Given the description of an element on the screen output the (x, y) to click on. 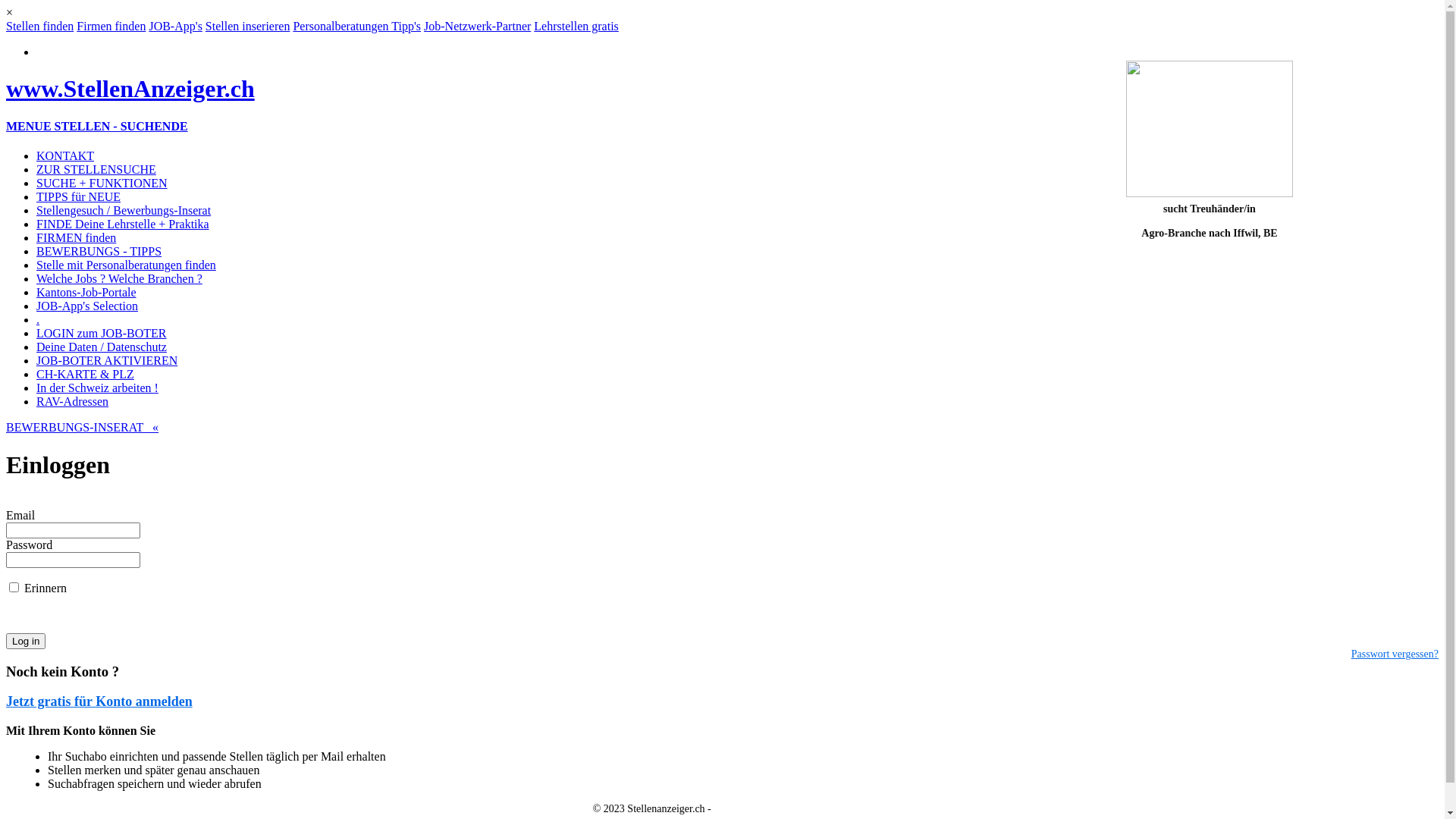
JOB-App's Element type: text (174, 25)
Stellen inserieren Element type: text (247, 25)
BEWERBUNGS-INSERAT   Element type: text (79, 426)
Deine Daten / Datenschutz Element type: text (101, 346)
FIRMEN finden Element type: text (76, 237)
In der Schweiz arbeiten ! Element type: text (97, 387)
MENUE STELLEN - SUCHENDE Element type: text (97, 126)
SUCHE + FUNKTIONEN Element type: text (101, 182)
Firmen finden Element type: text (110, 25)
Welche Jobs ? Welche Branchen ? Element type: text (119, 278)
Job-Netzwerk-Partner Element type: text (476, 25)
BEWERBUNGS - TIPPS Element type: text (98, 250)
Passwort vergessen? Element type: text (1394, 654)
Log in Element type: text (25, 641)
. Element type: text (37, 319)
ZUR STELLENSUCHE Element type: text (96, 169)
JOB-BOTER AKTIVIEREN Element type: text (106, 360)
Kantons-Job-Portale Element type: text (86, 291)
FINDE Deine Lehrstelle + Praktika Element type: text (122, 223)
www.StellenAnzeiger.ch Element type: text (130, 88)
KONTAKT Element type: text (65, 155)
LOGIN zum JOB-BOTER Element type: text (101, 332)
Stellengesuch / Bewerbungs-Inserat Element type: text (123, 209)
Lehrstellen gratis Element type: text (575, 25)
RAV-Adressen Element type: text (72, 401)
CH-KARTE & PLZ Element type: text (85, 373)
Personalberatungen Tipp's Element type: text (356, 25)
Stellen finden Element type: text (39, 25)
Stelle mit Personalberatungen finden Element type: text (126, 264)
JOB-App's Selection Element type: text (87, 305)
Browse Jobs - Jobs durchsuchen Element type: text (782, 808)
